Given the description of an element on the screen output the (x, y) to click on. 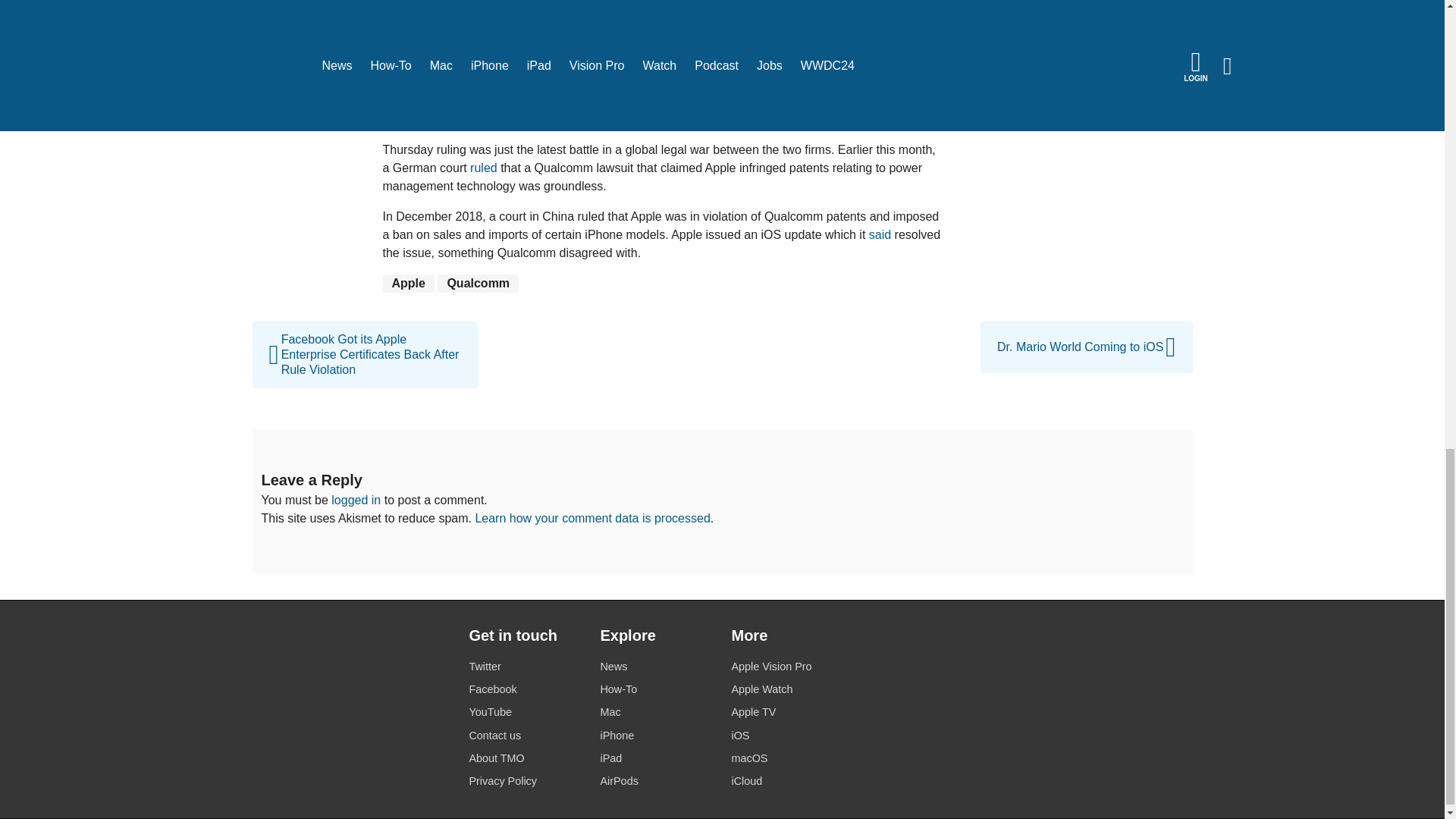
Facebook (524, 689)
News (656, 666)
ruled (483, 167)
Learn how your comment data is processed (592, 517)
Apple (407, 283)
Qualcomm (478, 283)
Privacy Policy (524, 781)
iPhone (656, 735)
YouTube (524, 711)
AirPods (656, 781)
Twitter (524, 666)
said (880, 234)
Contact us (524, 735)
Mac (656, 711)
